Given the description of an element on the screen output the (x, y) to click on. 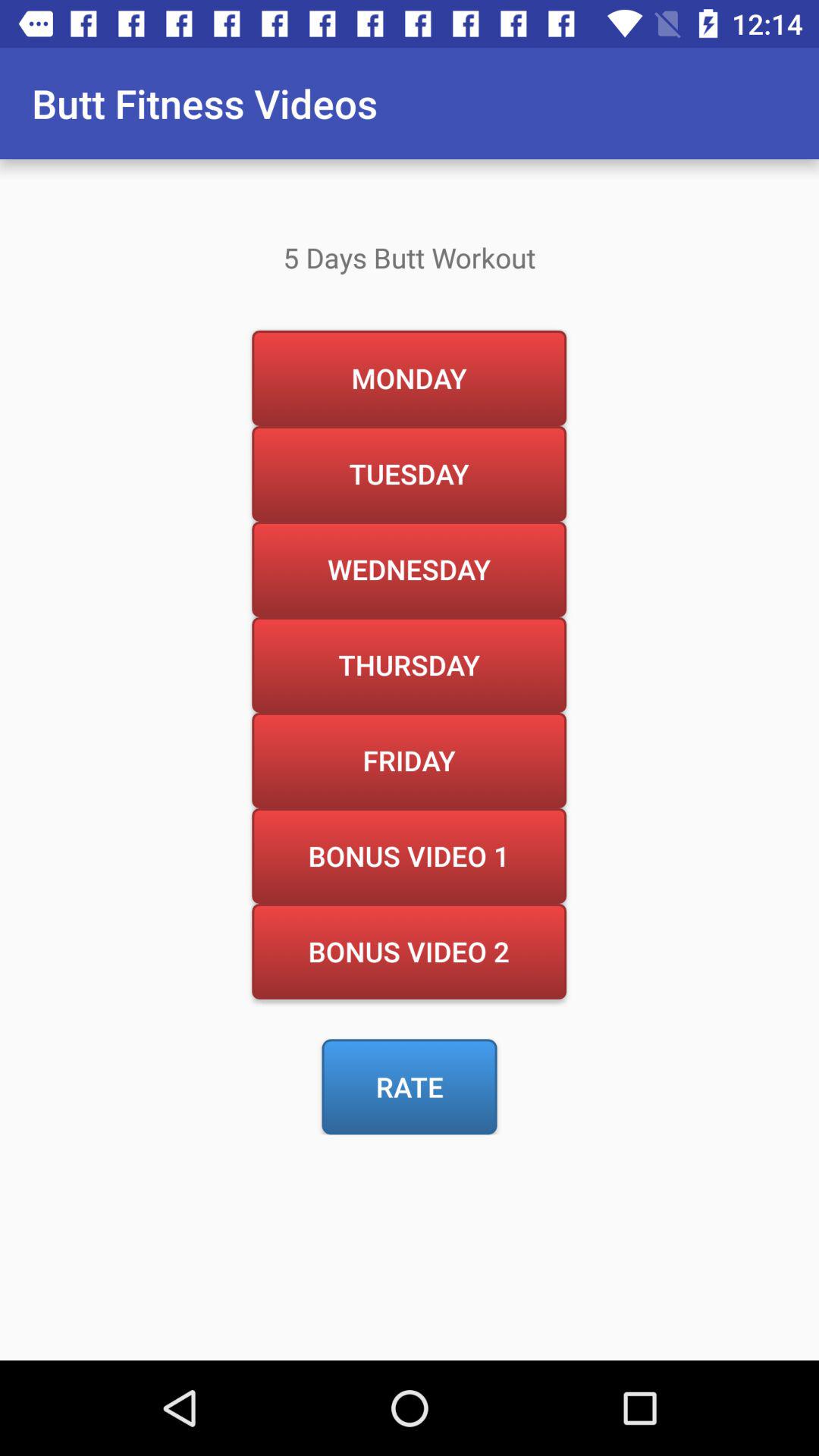
choose the icon below wednesday icon (408, 664)
